Given the description of an element on the screen output the (x, y) to click on. 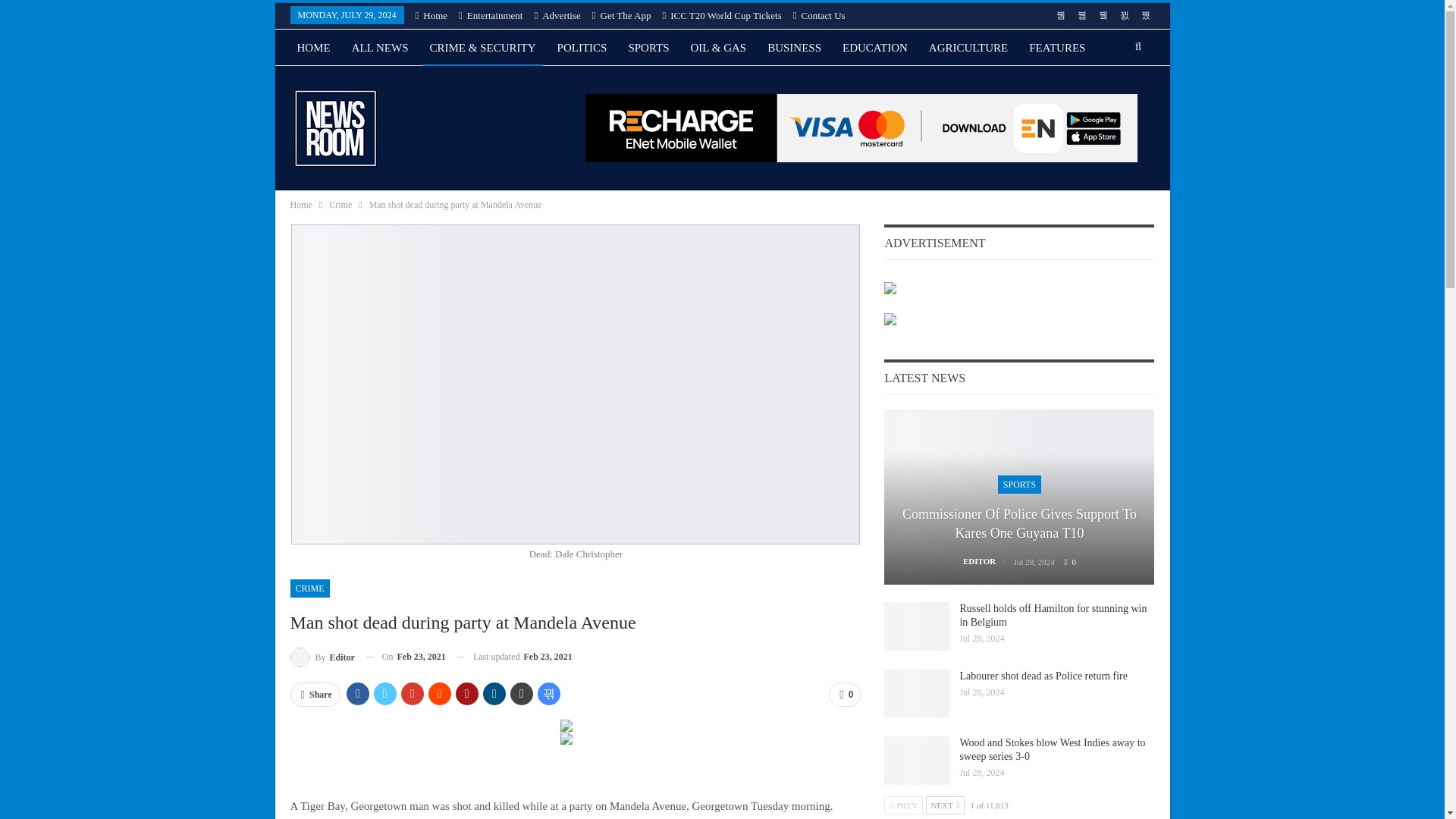
Get The App (621, 15)
AGRICULTURE (967, 47)
EDUCATION (874, 47)
CRIME (309, 588)
SPORTS (648, 47)
ALL NEWS (379, 47)
Advertise (556, 15)
Entertainment (490, 15)
BUSINESS (794, 47)
ICC T20 World Cup Tickets (721, 15)
LETTERS (386, 84)
HEALTH (318, 84)
FEATURES (1057, 47)
Crime (340, 204)
Contact Us (819, 15)
